Given the description of an element on the screen output the (x, y) to click on. 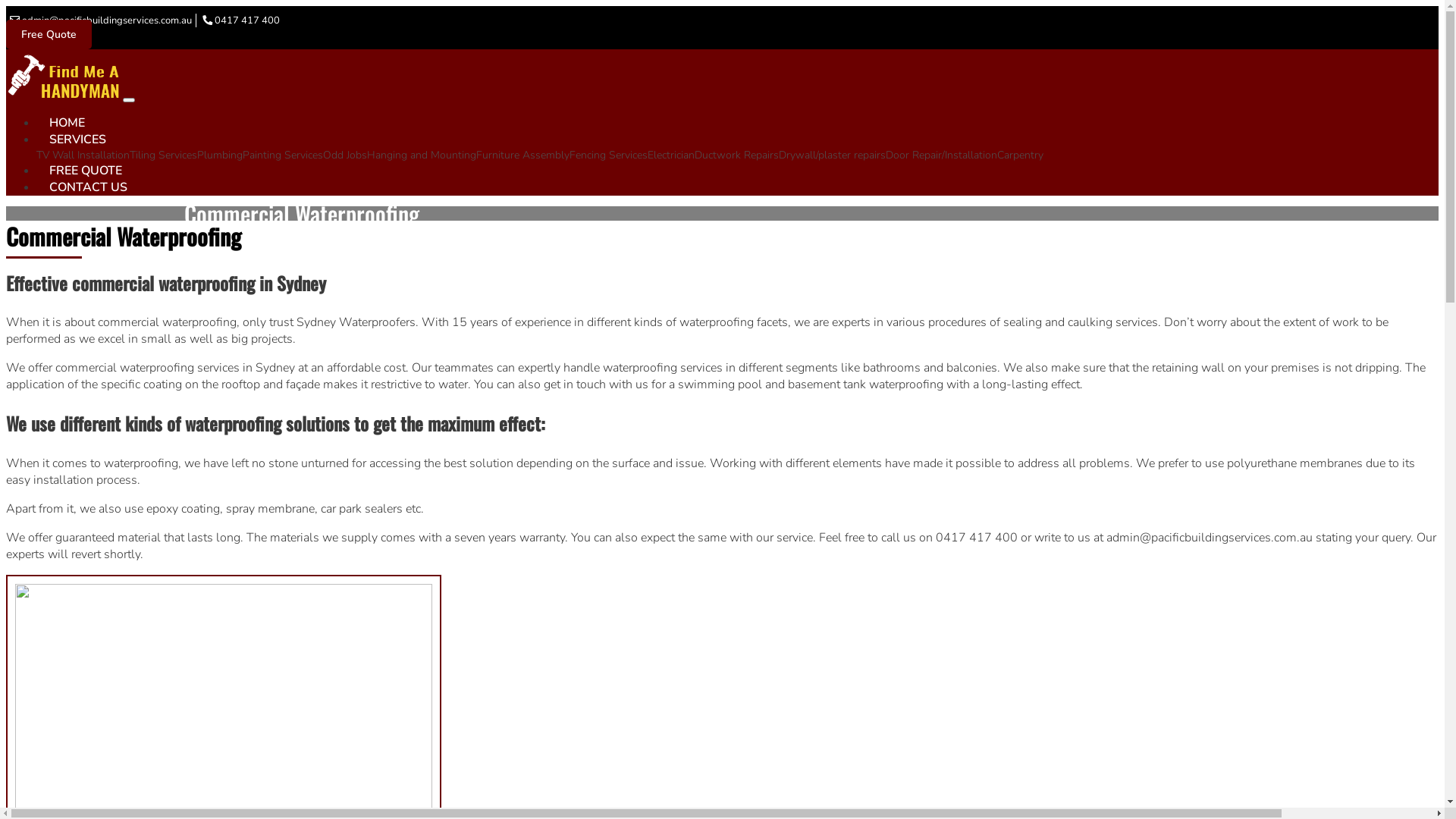
Furniture Assembly Element type: text (522, 154)
Electrician Element type: text (670, 154)
Fencing Services Element type: text (608, 154)
Plumbing Element type: text (219, 154)
Painting Services Element type: text (282, 154)
HOME Element type: text (66, 122)
admin@pacificbuildingservices.com.au Element type: text (106, 20)
Ductwork Repairs Element type: text (736, 154)
CONTACT US Element type: text (88, 187)
SERVICES Element type: text (77, 139)
Tiling Services Element type: text (163, 154)
Hanging and Mounting Element type: text (421, 154)
Odd Jobs Element type: text (345, 154)
TV Wall Installation Element type: text (82, 154)
Door Repair/Installation Element type: text (941, 154)
Free Quote Element type: text (48, 34)
0417 417 400 Element type: text (246, 20)
FREE QUOTE Element type: text (85, 170)
Carpentry Element type: text (1020, 154)
Drywall/plaster repairs Element type: text (831, 154)
